Given the description of an element on the screen output the (x, y) to click on. 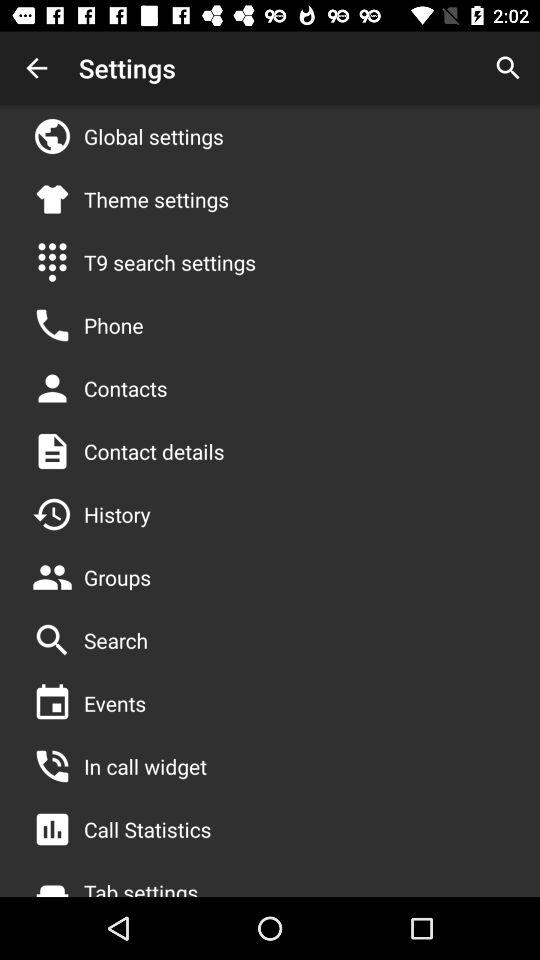
choose the item below the events item (145, 766)
